Given the description of an element on the screen output the (x, y) to click on. 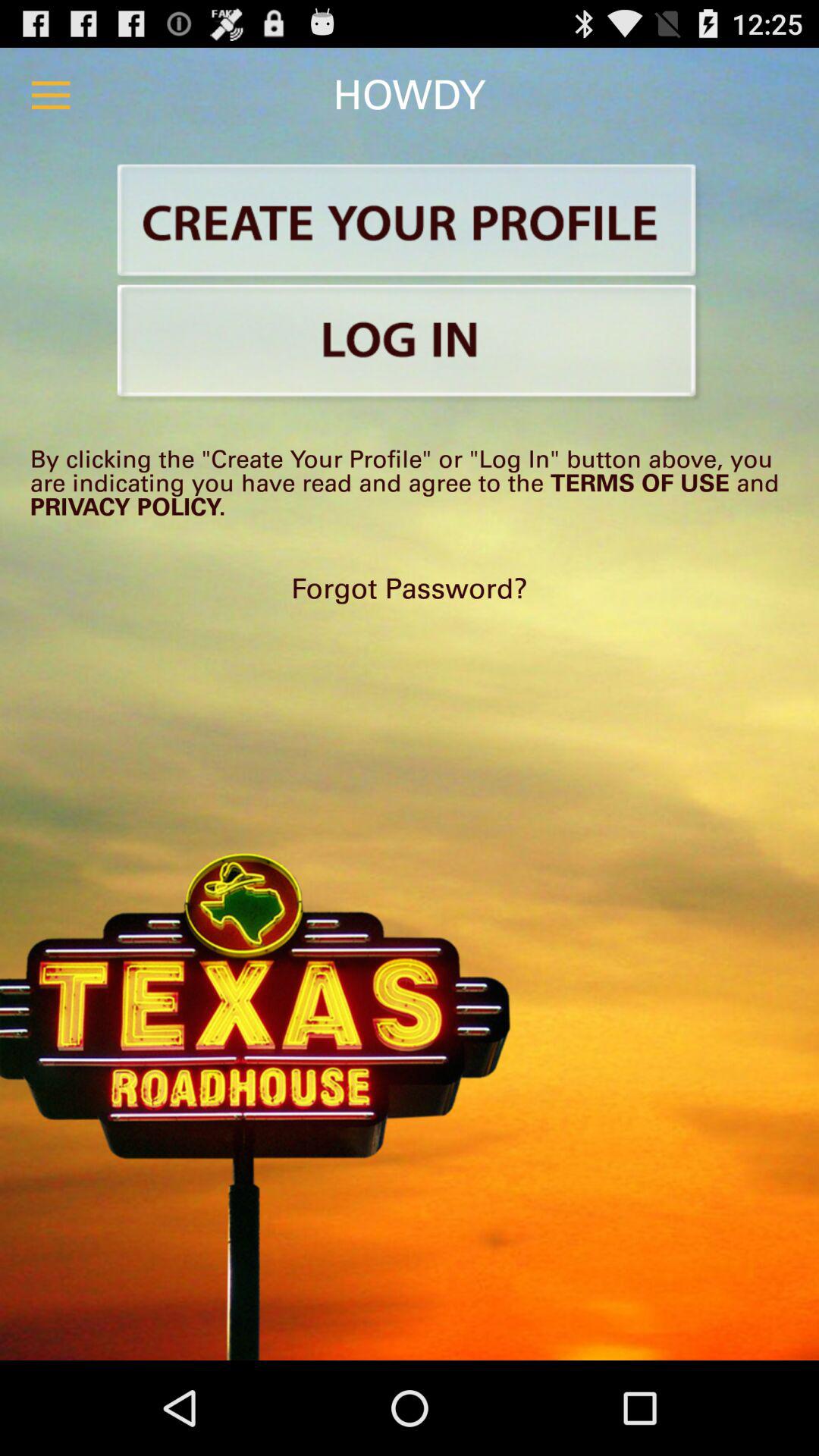
tap the forgot password? (409, 588)
